Given the description of an element on the screen output the (x, y) to click on. 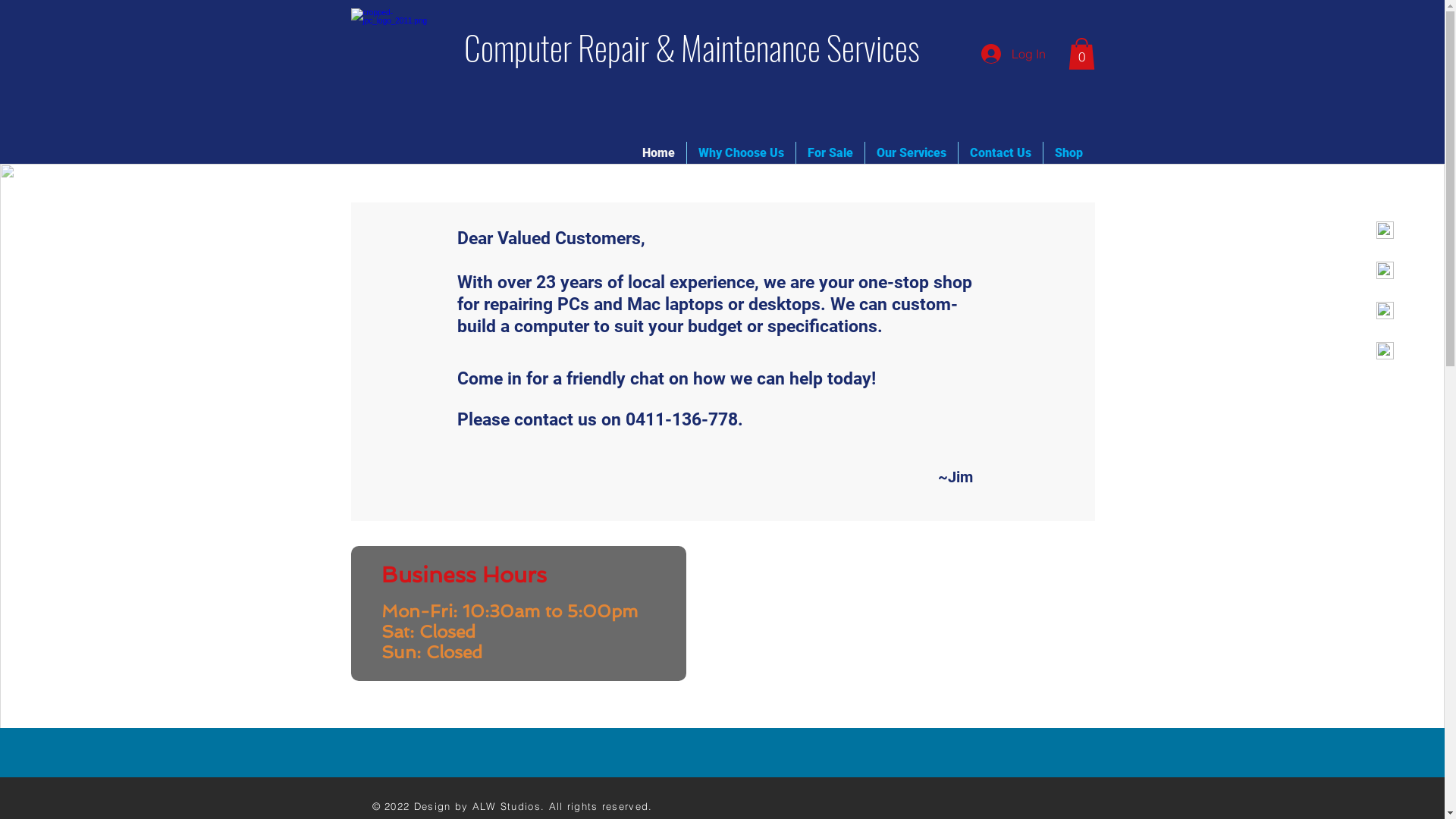
Contact Us Element type: text (1000, 152)
For Sale Element type: text (830, 152)
Why Choose Us Element type: text (741, 152)
Shop Element type: text (1068, 152)
Home Element type: text (658, 152)
0 Element type: text (1080, 53)
Log In Element type: text (1013, 53)
Our Services Element type: text (910, 152)
